Given the description of an element on the screen output the (x, y) to click on. 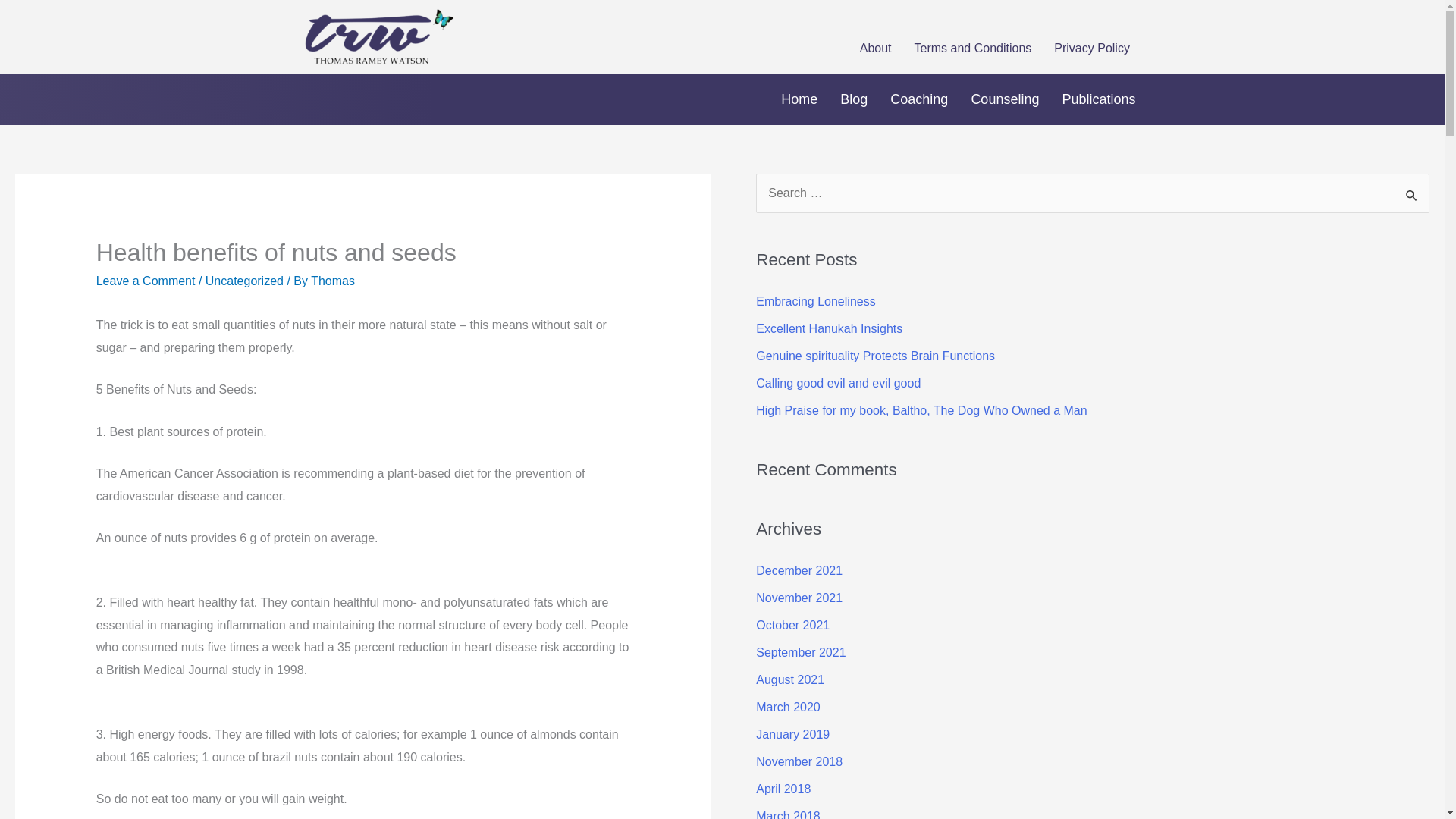
Blog (853, 99)
Publications (1098, 99)
View all posts by Thomas (333, 280)
Thomas (333, 280)
About (875, 48)
Calling good evil and evil good (837, 382)
Home (799, 99)
Excellent Hanukah Insights (828, 328)
Uncategorized (244, 280)
Leave a Comment (145, 280)
High Praise for my book, Baltho, The Dog Who Owned a Man (920, 410)
Embracing Loneliness (815, 300)
Coaching (919, 99)
Privacy Policy (1091, 48)
Terms and Conditions (972, 48)
